Given the description of an element on the screen output the (x, y) to click on. 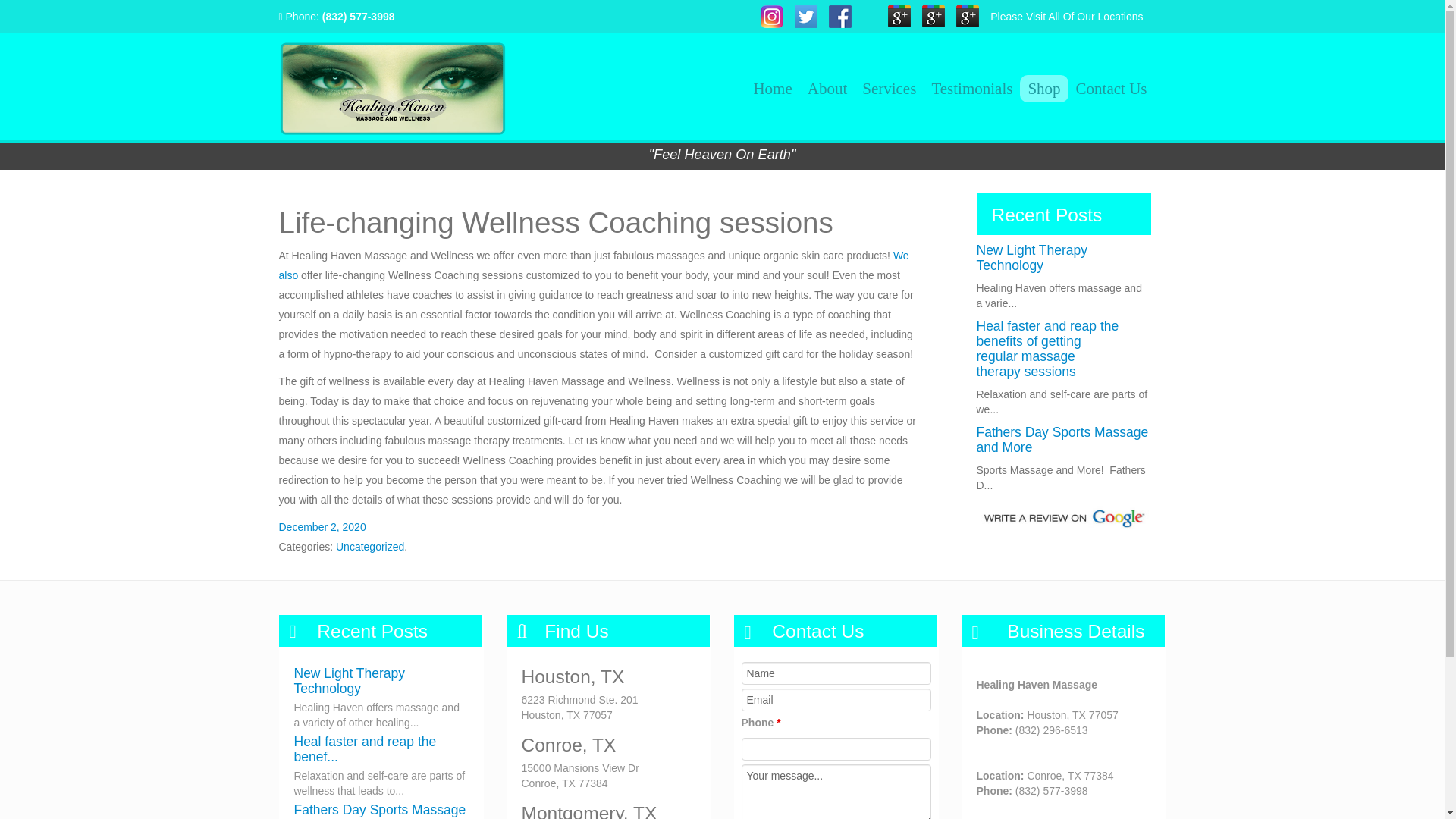
Fathers Day Sports Massage and More (1062, 440)
Uncategorized (370, 546)
New Light Therapy Technology (1031, 257)
New Light Therapy Technology (350, 680)
About (827, 88)
Contact Us (1111, 88)
Home (772, 88)
Testimonials (971, 88)
December 2, 2020 (322, 526)
Services (888, 88)
